Given the description of an element on the screen output the (x, y) to click on. 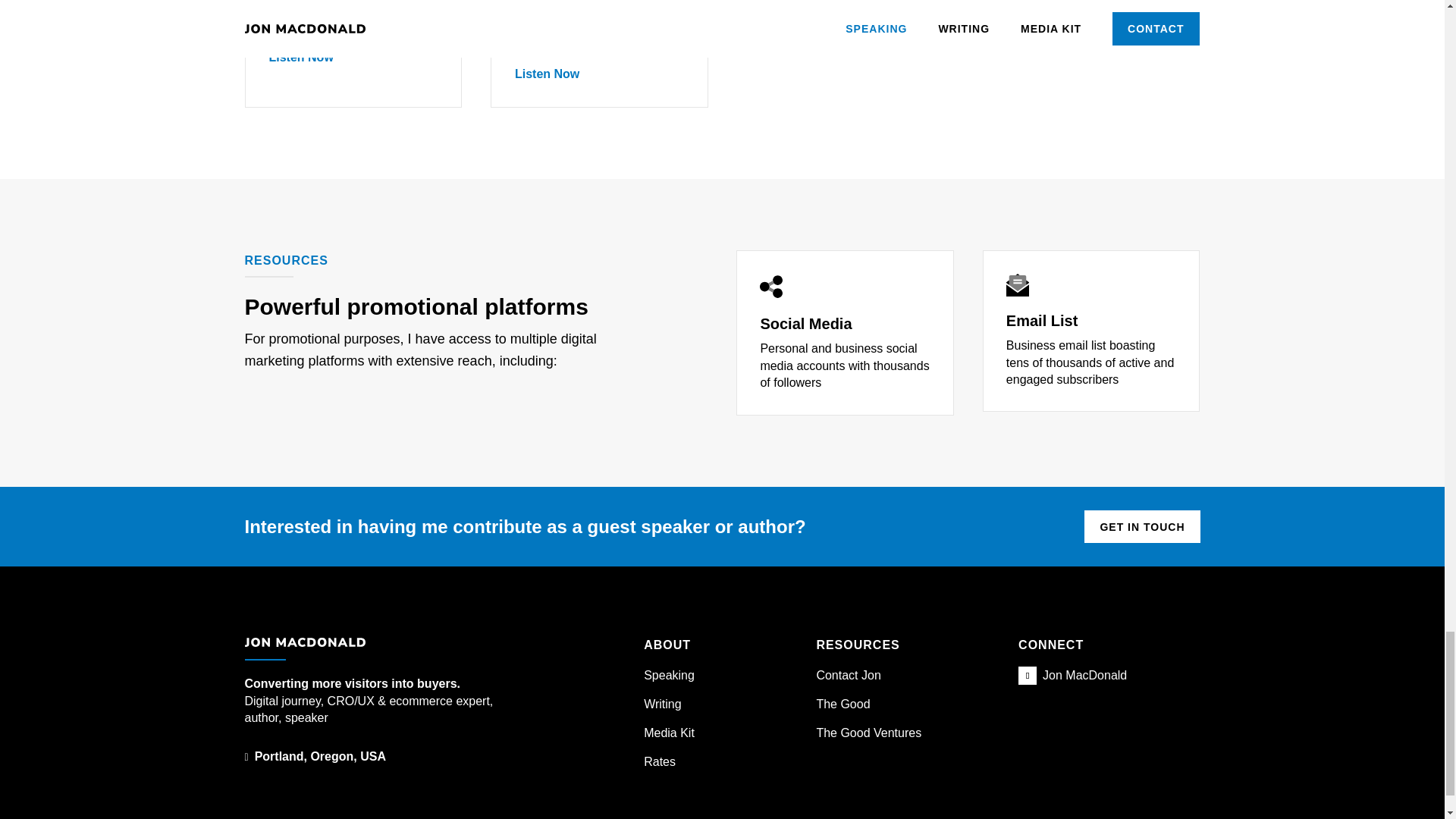
Rates (659, 761)
jon-macdonald-logo-white (304, 642)
Media Kit (668, 732)
Jon MacDonald (1084, 675)
LinkedIn (1084, 675)
Listen Now (546, 74)
Writing (662, 703)
The Good (842, 703)
GET IN TOUCH (1141, 526)
Follow on LinkedIn (1026, 675)
The Good Ventures (868, 732)
Contact Jon (847, 675)
Listen Now (300, 56)
Speaking (668, 675)
